Given the description of an element on the screen output the (x, y) to click on. 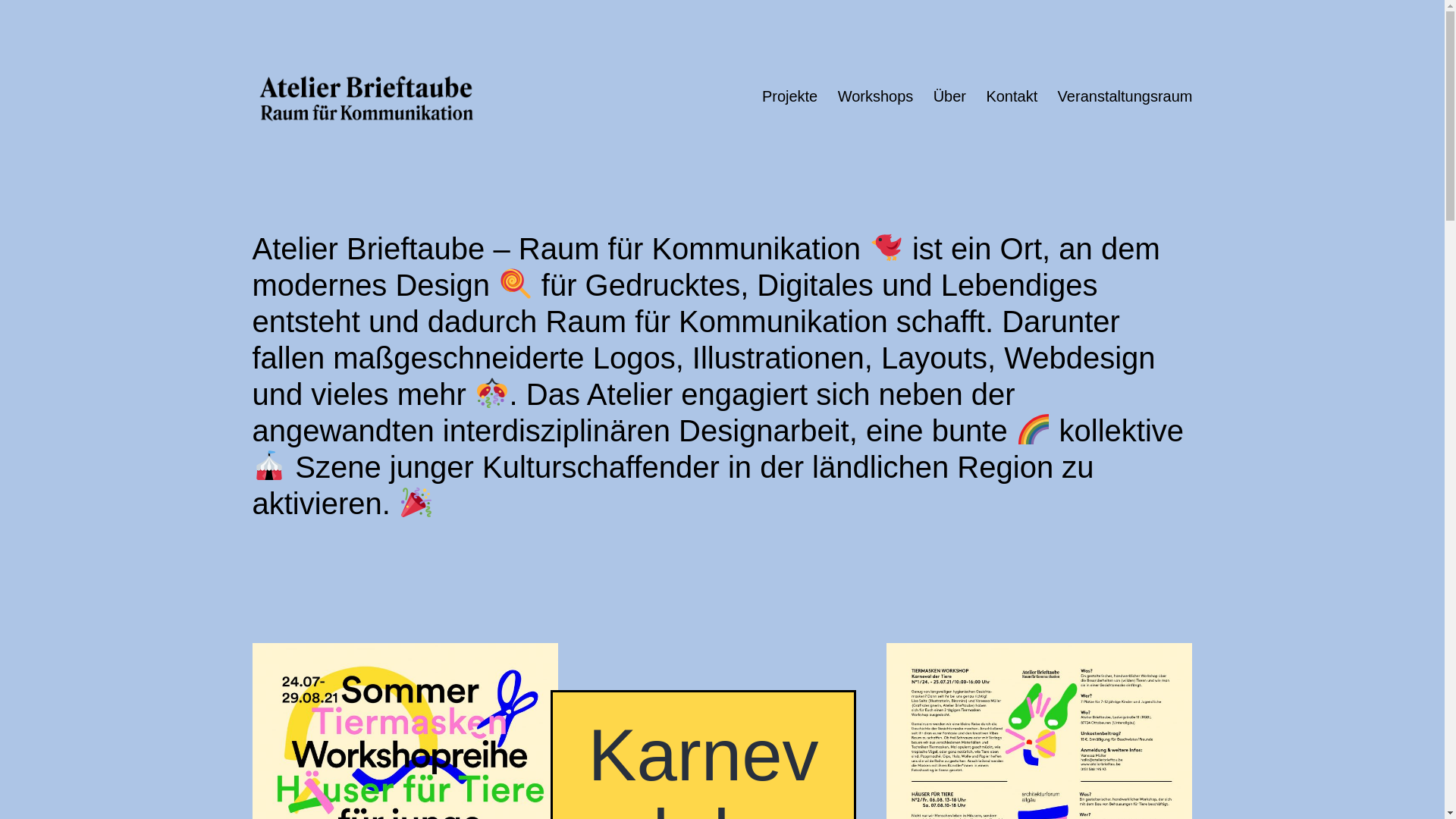
Projekte Element type: text (790, 96)
Veranstaltungsraum Element type: text (1124, 96)
Kontakt Element type: text (1011, 96)
Workshops Element type: text (874, 96)
